Given the description of an element on the screen output the (x, y) to click on. 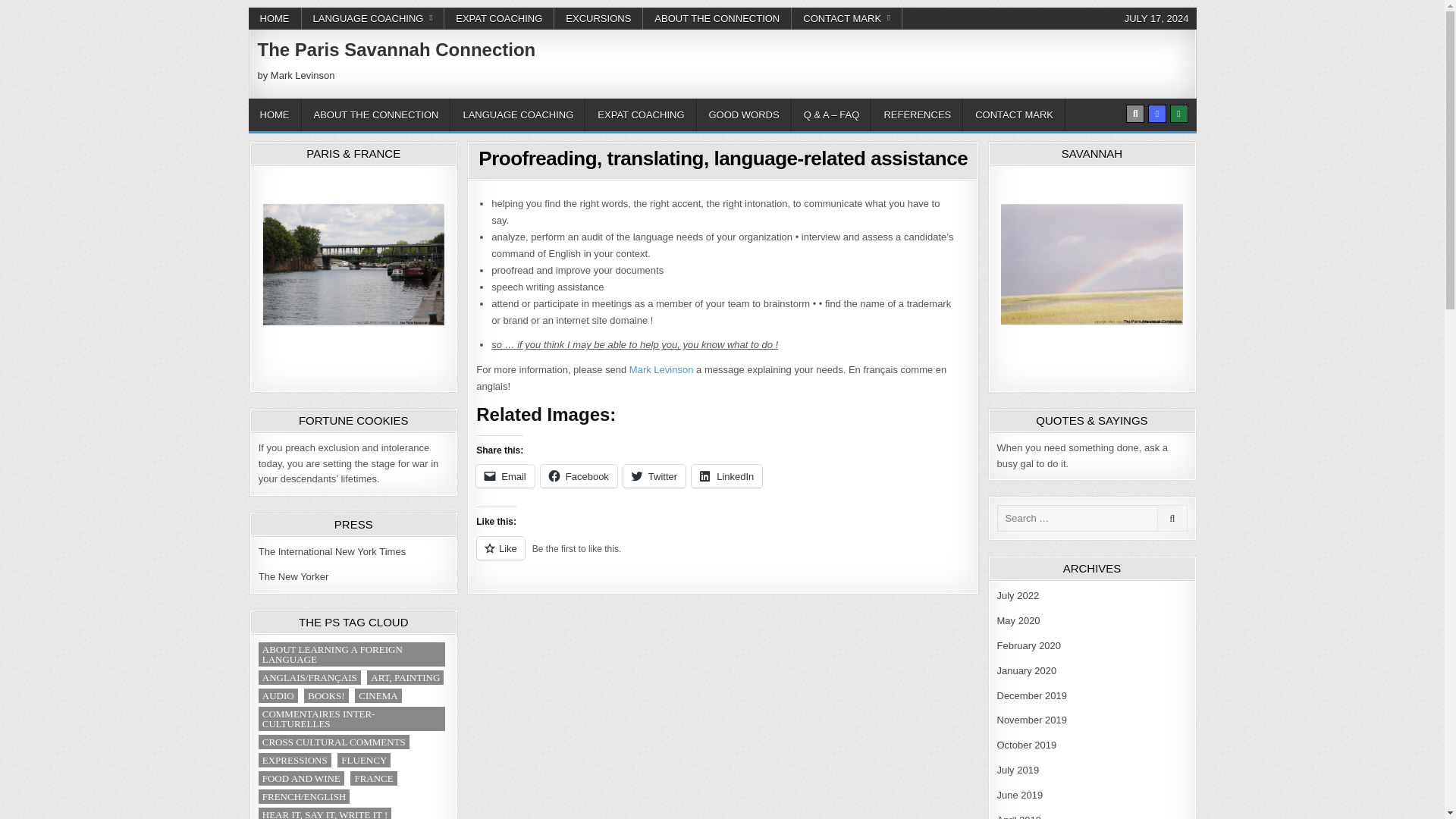
GOOD WORDS (742, 114)
CONTACT MARK (847, 18)
The Bir Hakeim bridge with a metro crossing (353, 264)
Click to share on Twitter (654, 476)
Random Article (1157, 113)
ABOUT THE CONNECTION (376, 114)
LANGUAGE COACHING (517, 114)
EXPAT COACHING (640, 114)
Click to share on LinkedIn (726, 476)
Like or Reblog (722, 557)
ABOUT THE CONNECTION (717, 18)
Search (1134, 113)
LANGUAGE COACHING (373, 18)
The Bir Hakeim bridge with a metro crossing (353, 264)
EXCURSIONS (598, 18)
